Given the description of an element on the screen output the (x, y) to click on. 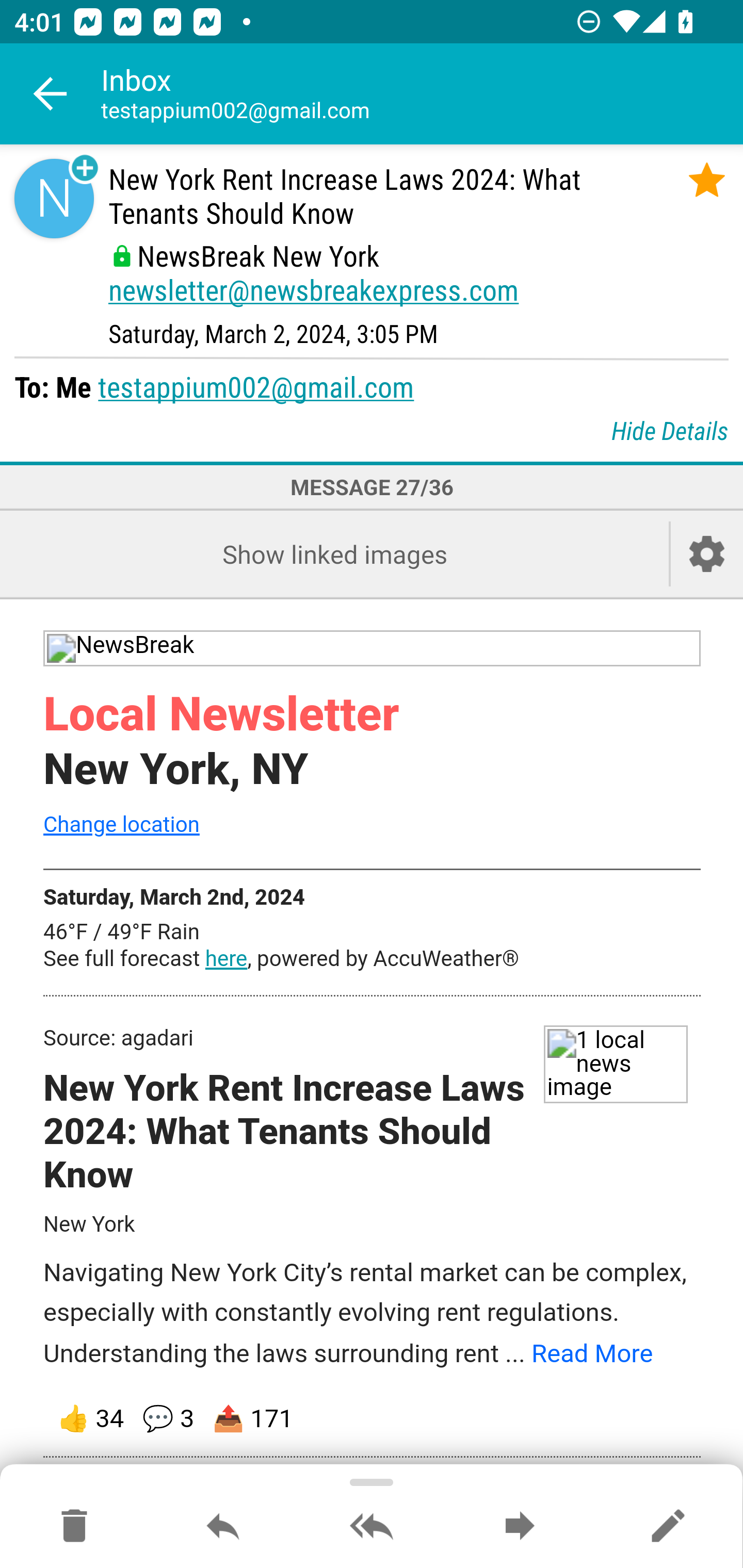
Navigate up (50, 93)
Inbox testappium002@gmail.com (422, 93)
Sender contact button (53, 198)
Show linked images (334, 554)
Account setup (706, 554)
Change location (121, 824)
here (225, 958)
👍 34   💬 3   📤 171 (372, 1419)
Move to Deleted (74, 1527)
Reply (222, 1527)
Reply all (371, 1527)
Forward (519, 1527)
Reply as new (667, 1527)
